Given the description of an element on the screen output the (x, y) to click on. 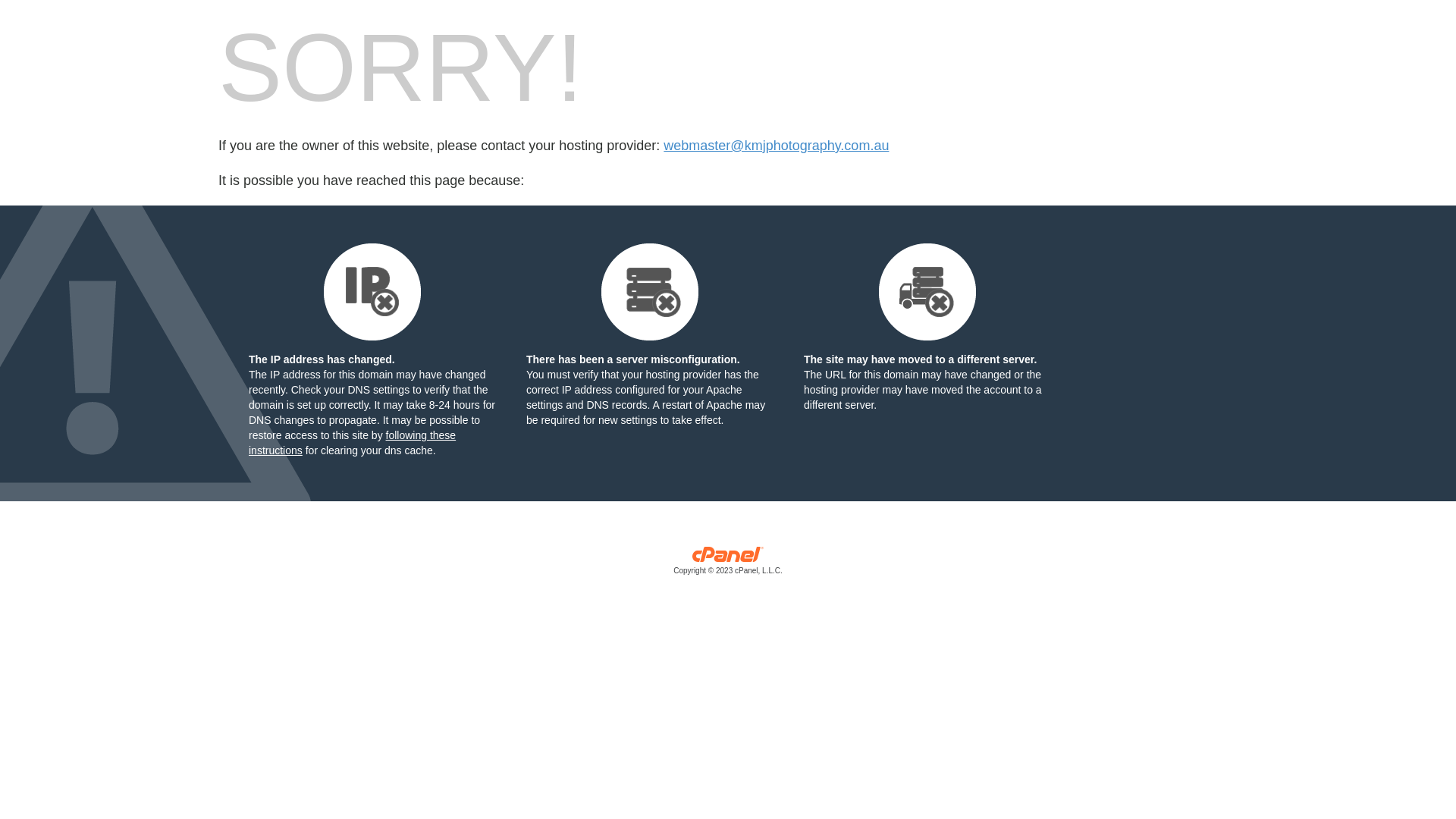
webmaster@kmjphotography.com.au Element type: text (775, 145)
following these instructions Element type: text (351, 442)
